Given the description of an element on the screen output the (x, y) to click on. 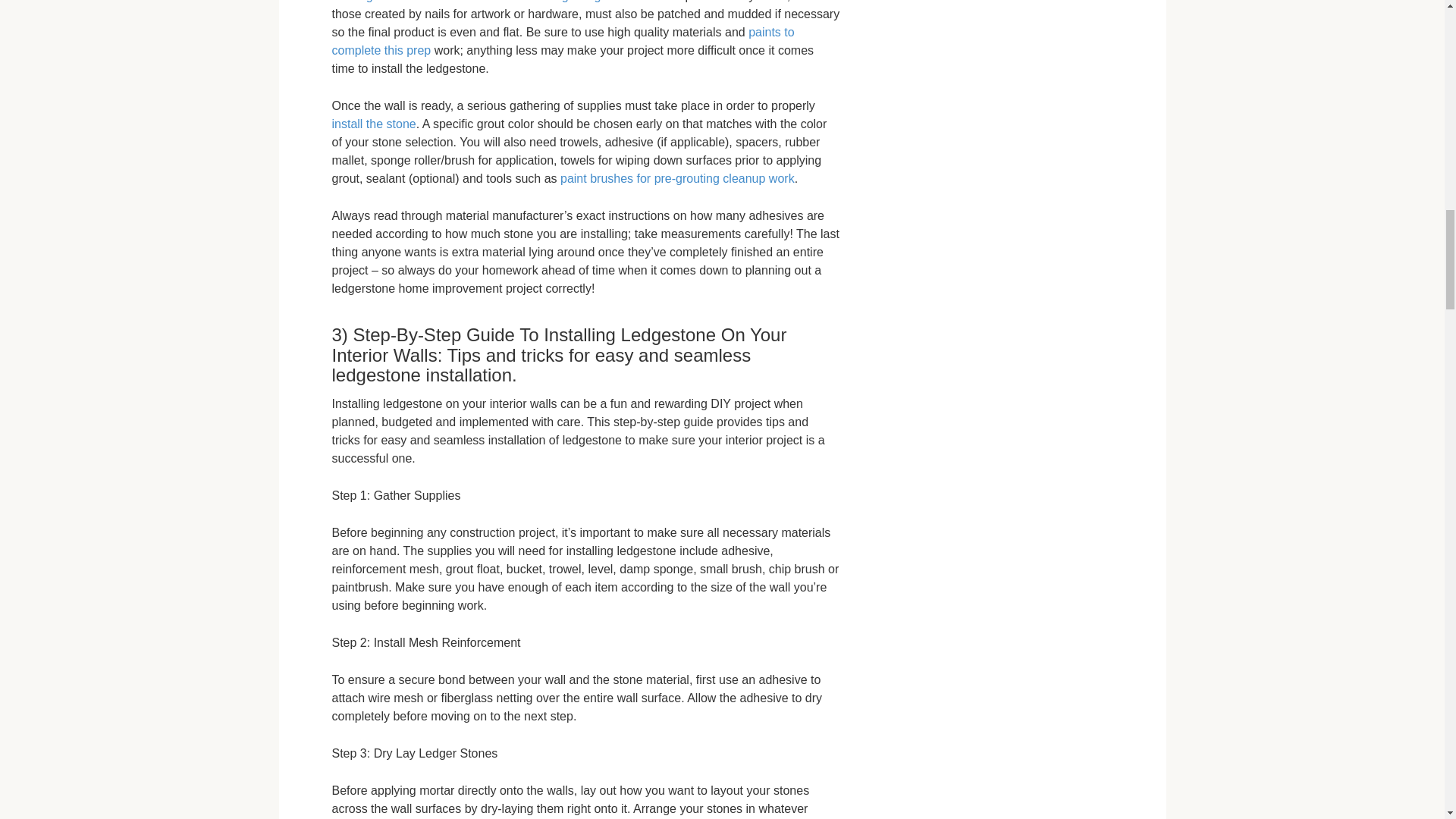
install the stone (373, 123)
paints to complete this prep (562, 40)
paint brushes for pre-grouting cleanup work (677, 178)
